Given the description of an element on the screen output the (x, y) to click on. 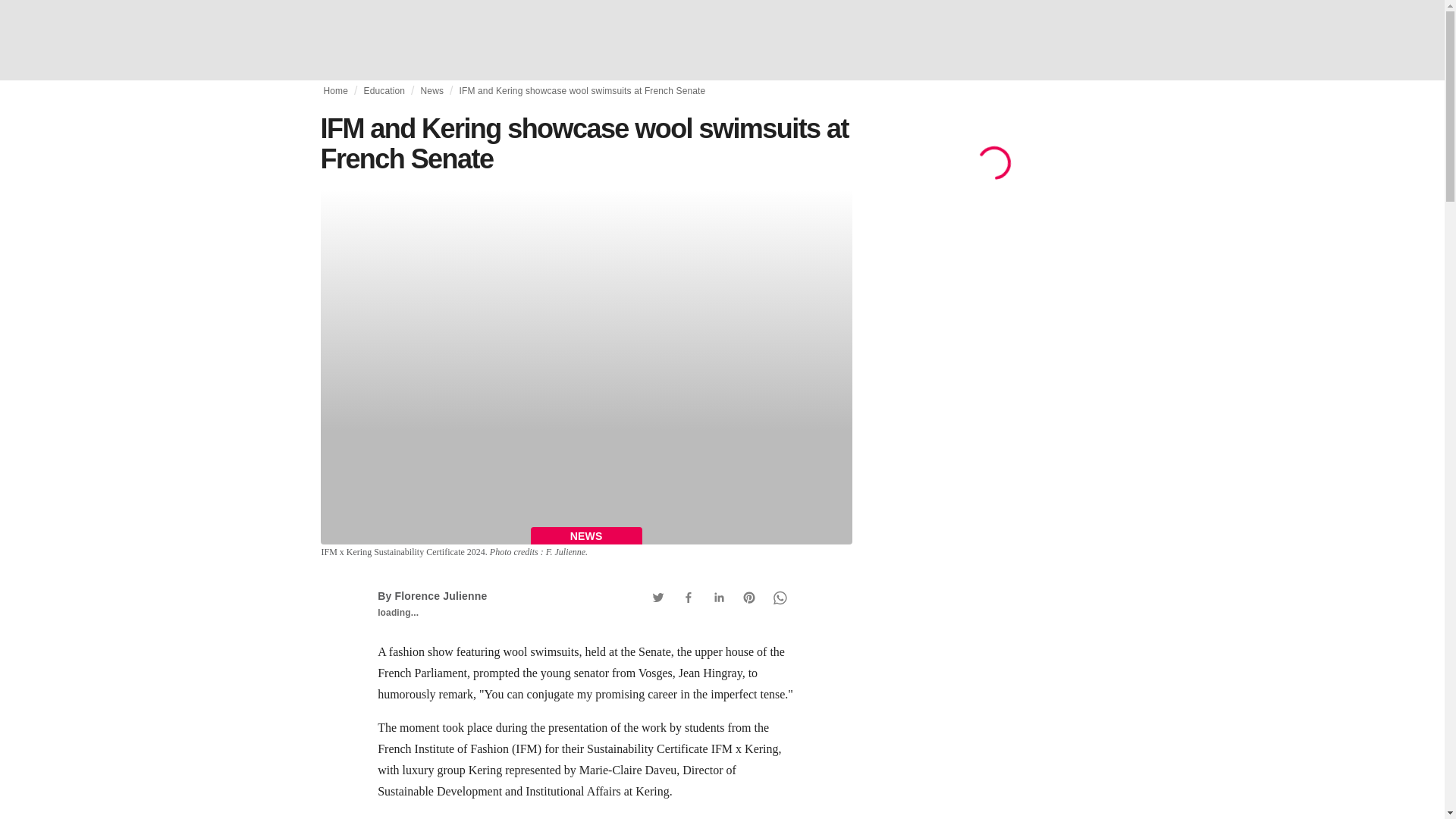
IFM and Kering showcase wool swimsuits at French Senate (583, 90)
Education (385, 90)
News (432, 90)
Home (335, 90)
By Florence Julienne (431, 595)
